Given the description of an element on the screen output the (x, y) to click on. 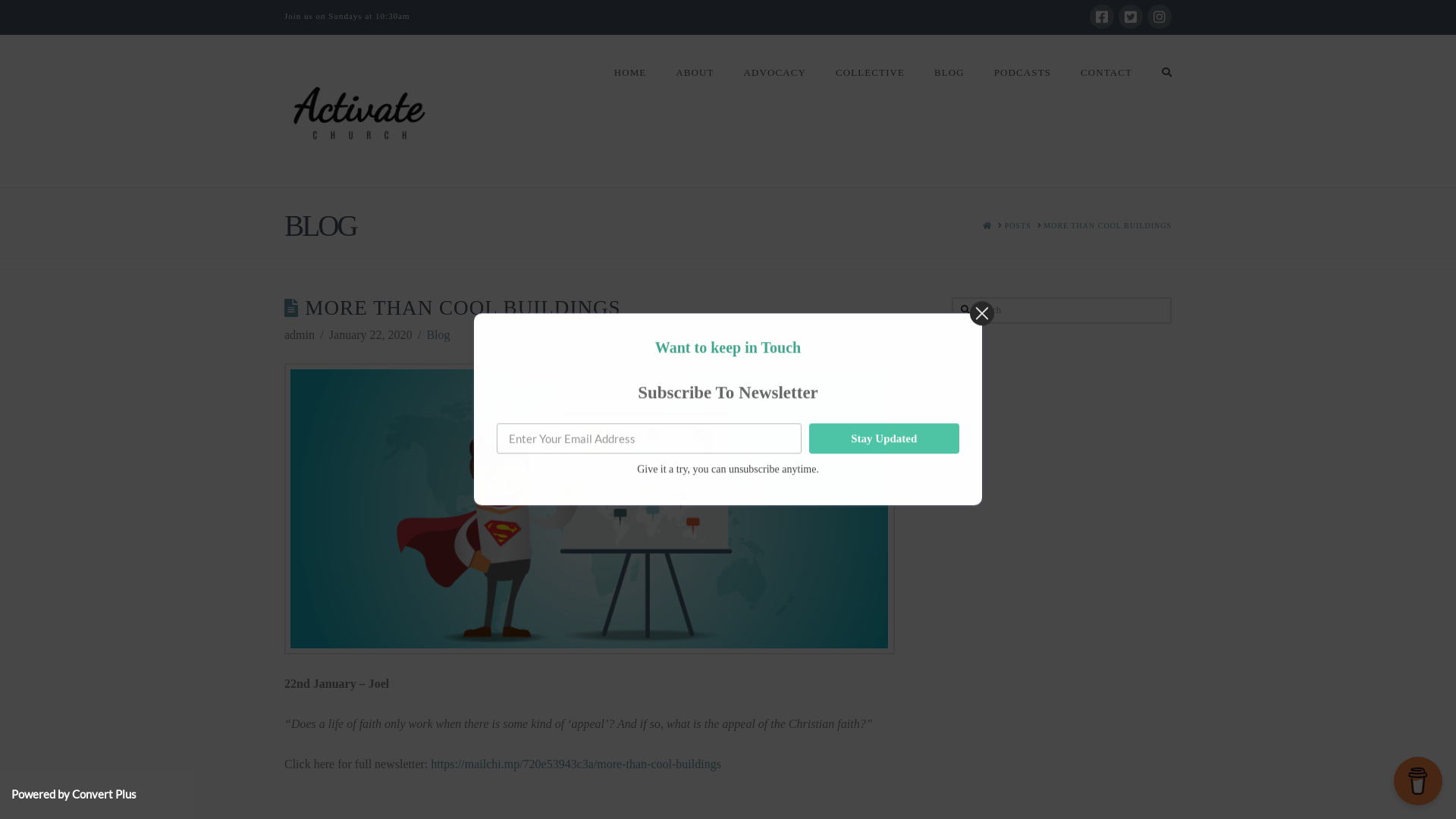
ADVOCACY Element type: text (774, 72)
POSTS Element type: text (1017, 225)
BLOG Element type: text (949, 72)
Blog Element type: text (437, 334)
COLLECTIVE Element type: text (869, 72)
PODCASTS Element type: text (1022, 72)
ABOUT Element type: text (694, 72)
HOME Element type: text (986, 225)
https://mailchi.mp/720e53943c3a/more-than-cool-buildings Element type: text (575, 763)
MORE THAN COOL BUILDINGS Element type: text (1107, 225)
Instagram Element type: hover (1159, 16)
Twitter Element type: hover (1130, 16)
Powered by Convert Plus Element type: text (73, 793)
CONTACT Element type: text (1105, 72)
HOME Element type: text (630, 72)
Facebook Element type: hover (1101, 16)
